Given the description of an element on the screen output the (x, y) to click on. 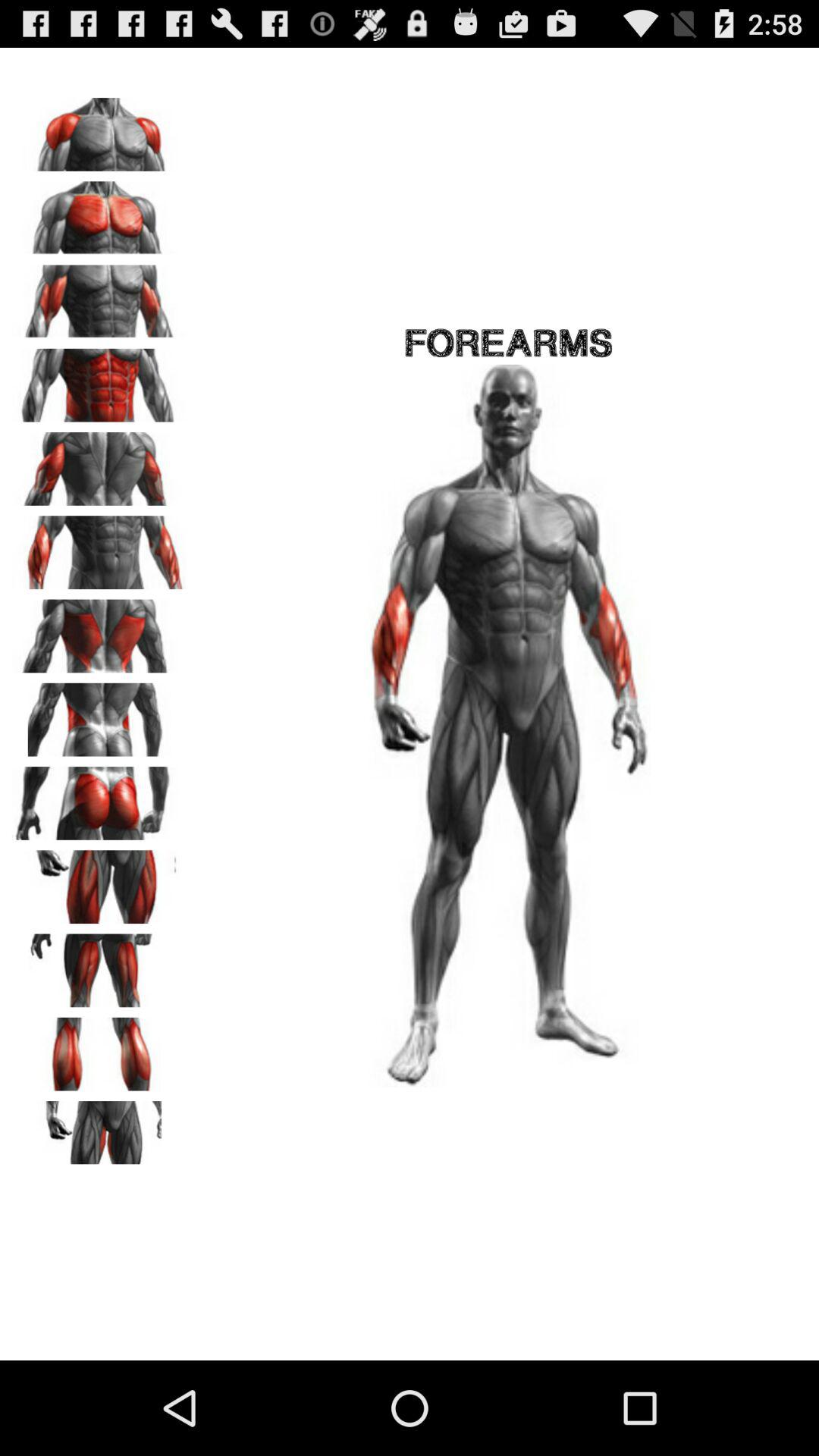
select gluteus workouts (99, 798)
